Given the description of an element on the screen output the (x, y) to click on. 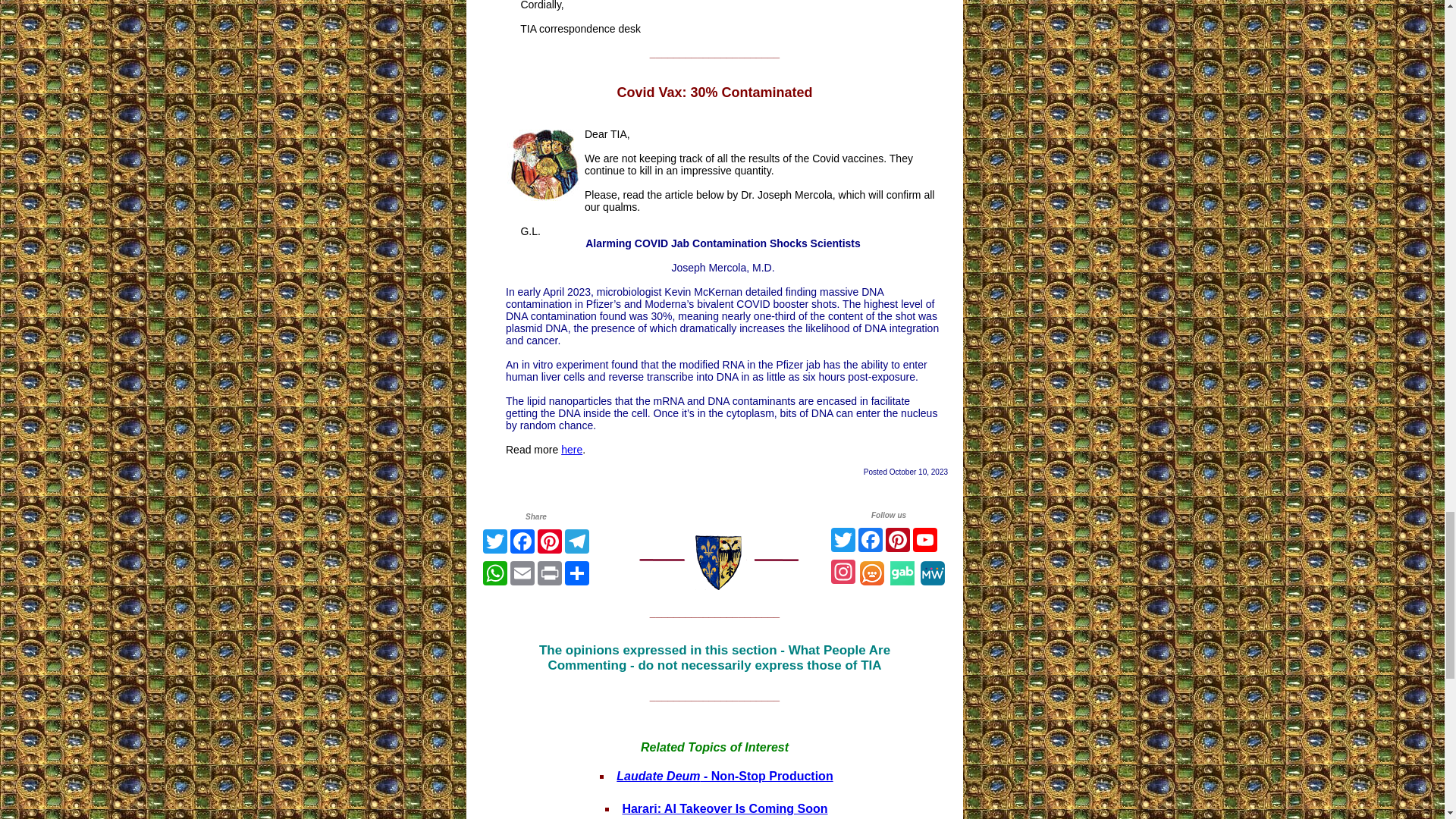
WhatsApp (494, 573)
Telegram (577, 541)
Print (549, 573)
Facebook (521, 541)
Email (521, 573)
Pinterest (549, 541)
Twitter (494, 541)
here (571, 449)
